Given the description of an element on the screen output the (x, y) to click on. 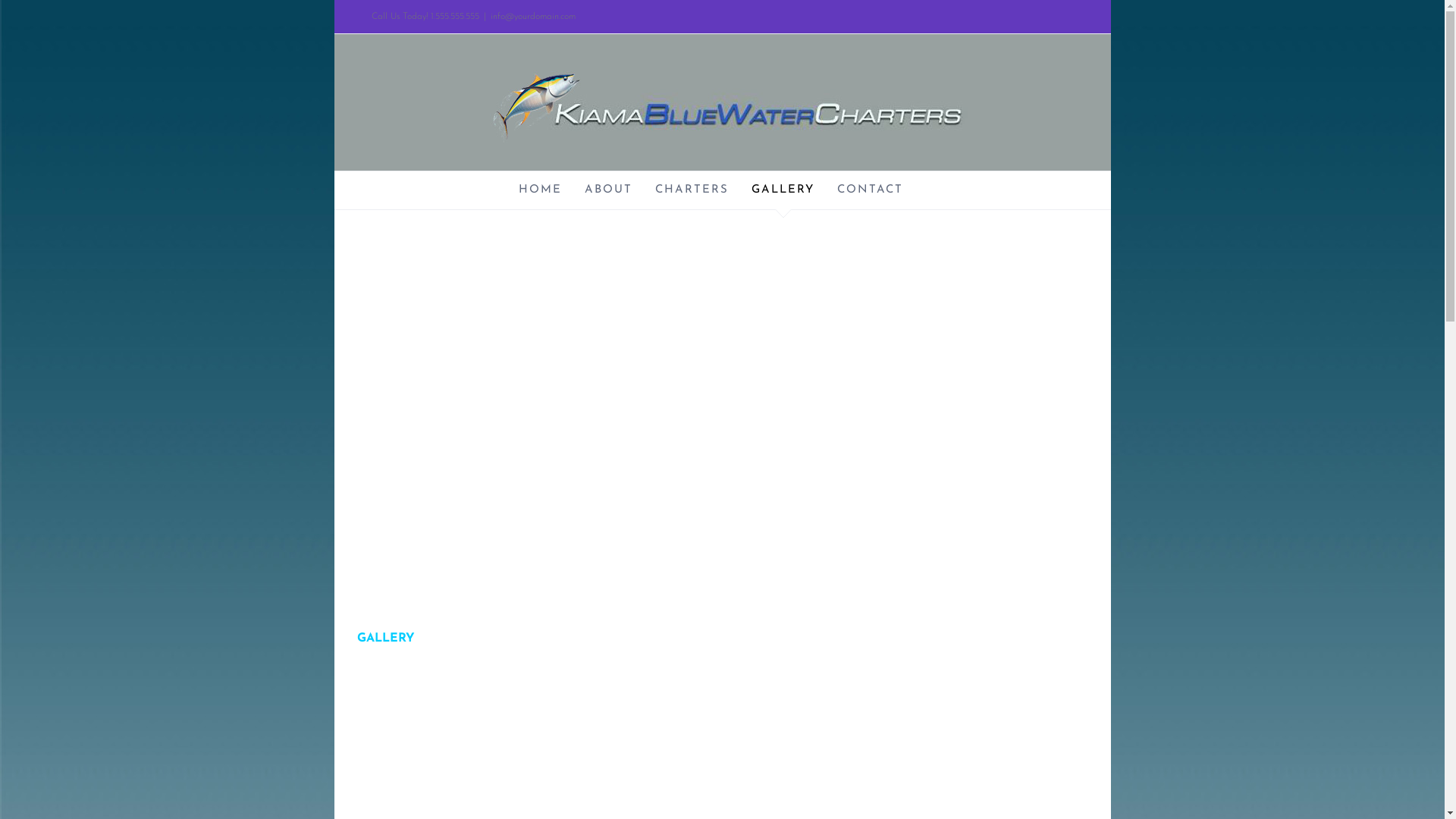
HOME Element type: text (539, 190)
ABOUT Element type: text (608, 190)
CHARTERS Element type: text (691, 190)
info@yourdomain.com Element type: text (532, 16)
GALLERY Element type: text (782, 190)
CONTACT Element type: text (870, 190)
